Given the description of an element on the screen output the (x, y) to click on. 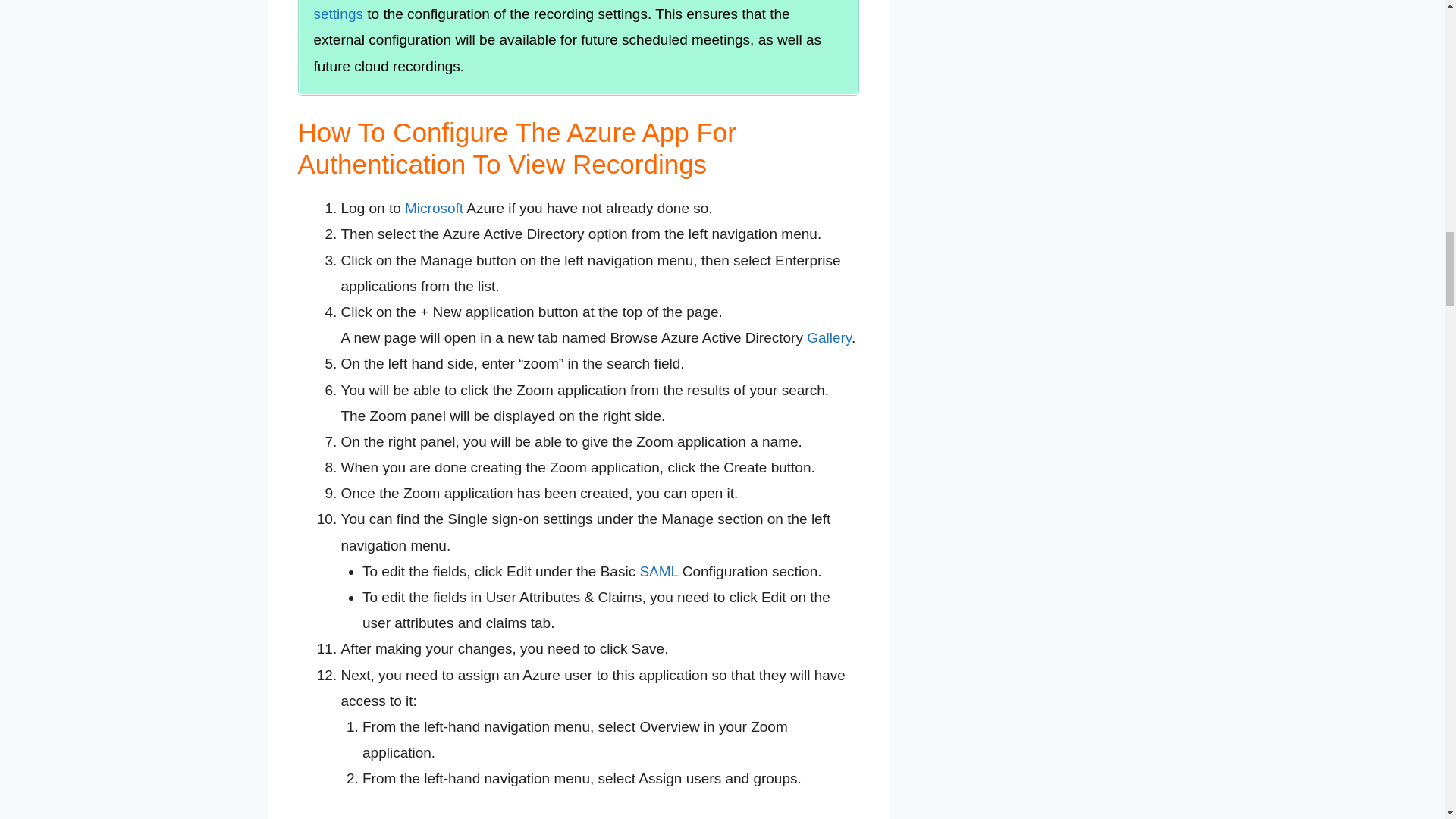
meeting settings (574, 11)
Gallery (828, 337)
Microsoft (433, 207)
